Given the description of an element on the screen output the (x, y) to click on. 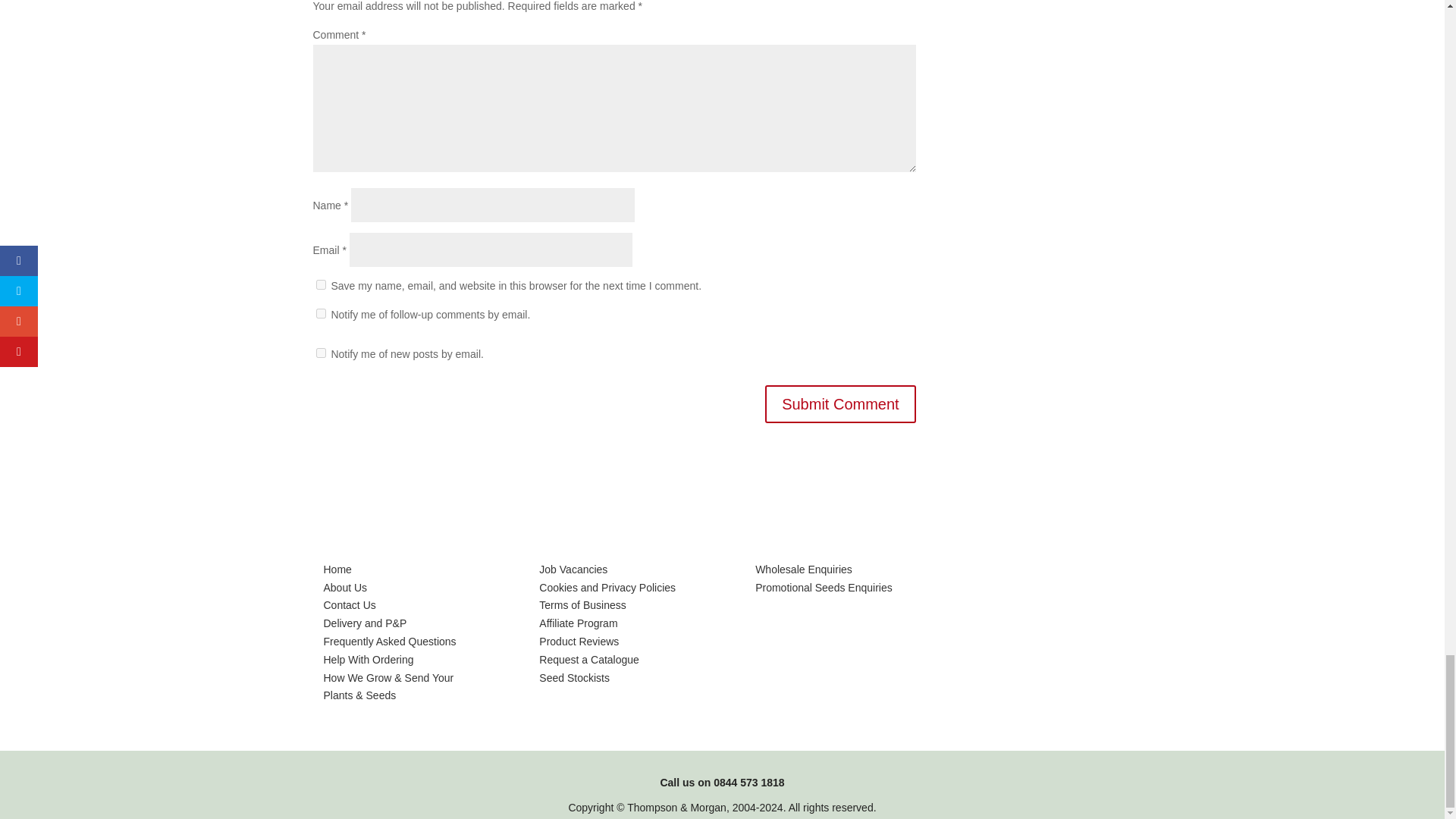
yes (319, 284)
subscribe (319, 352)
subscribe (319, 313)
Submit Comment (840, 403)
Submit Comment (840, 403)
